Given the description of an element on the screen output the (x, y) to click on. 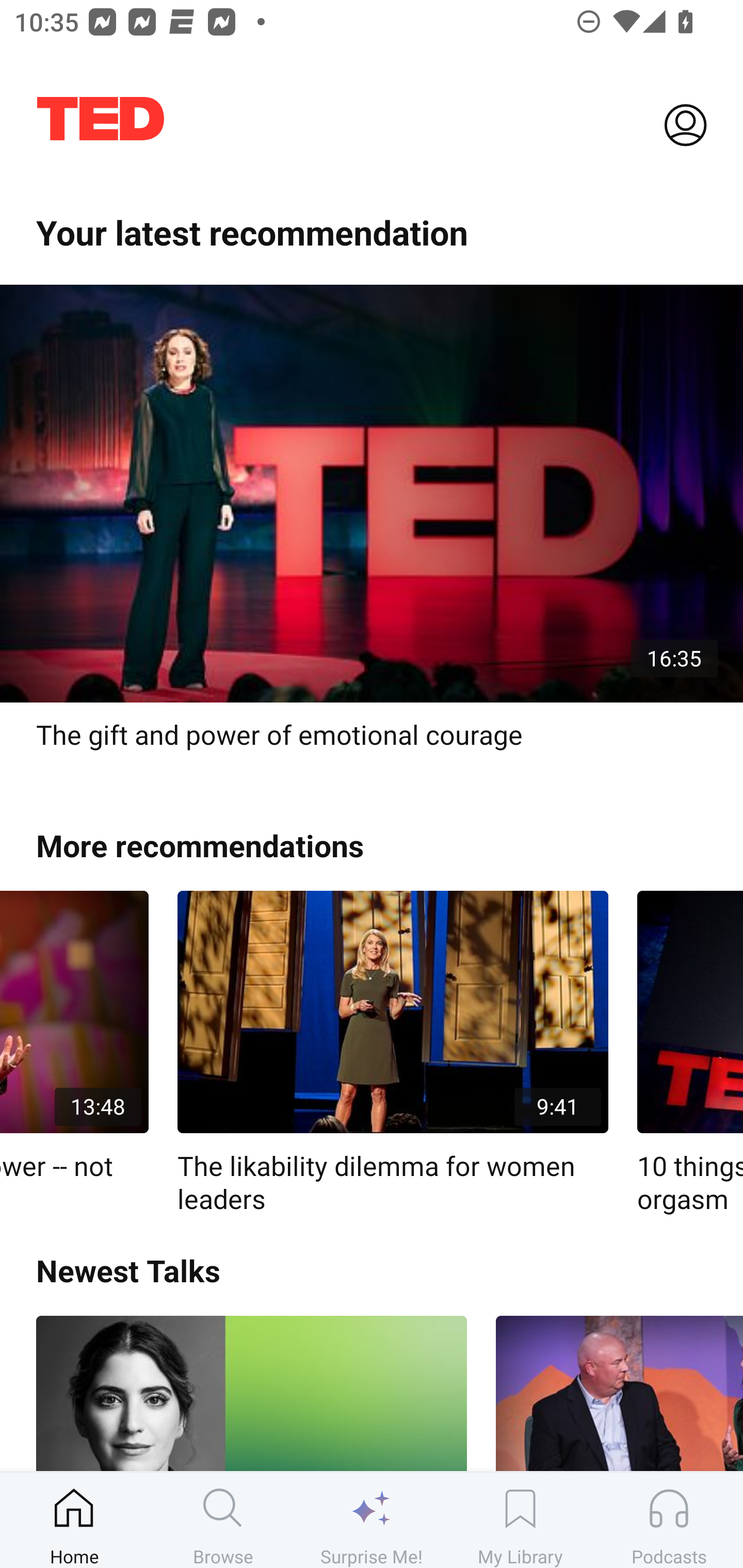
9:41 The likability dilemma for women leaders (392, 1053)
Home (74, 1520)
Browse (222, 1520)
Surprise Me! (371, 1520)
My Library (519, 1520)
Podcasts (668, 1520)
